Given the description of an element on the screen output the (x, y) to click on. 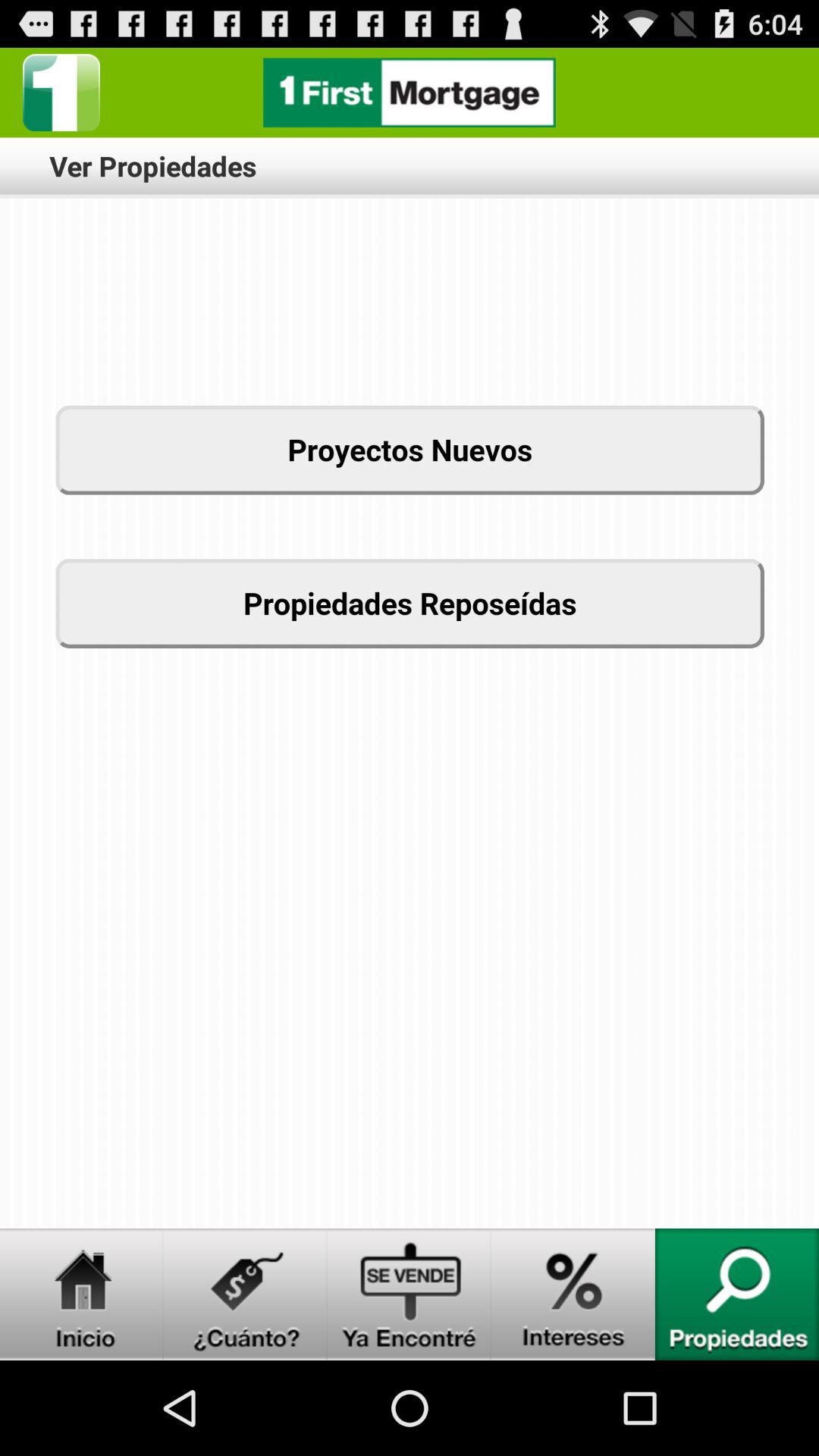
go to home (81, 1294)
